Given the description of an element on the screen output the (x, y) to click on. 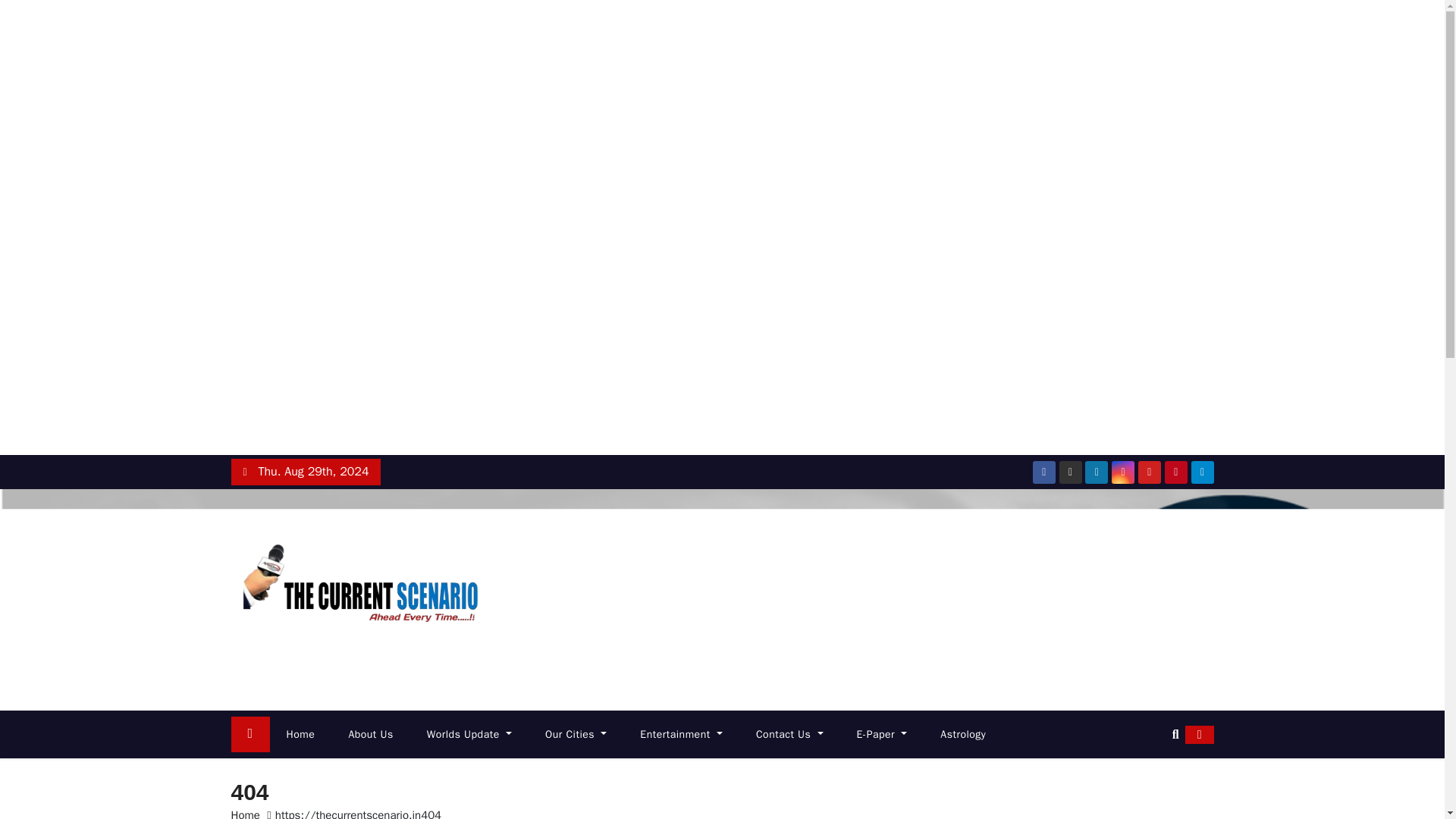
About Us (370, 734)
Home (249, 734)
Worlds Update (469, 734)
Our Cities (575, 734)
About Us (370, 734)
Our Cities (575, 734)
Home (300, 734)
Home (300, 734)
Worlds Update (469, 734)
